Given the description of an element on the screen output the (x, y) to click on. 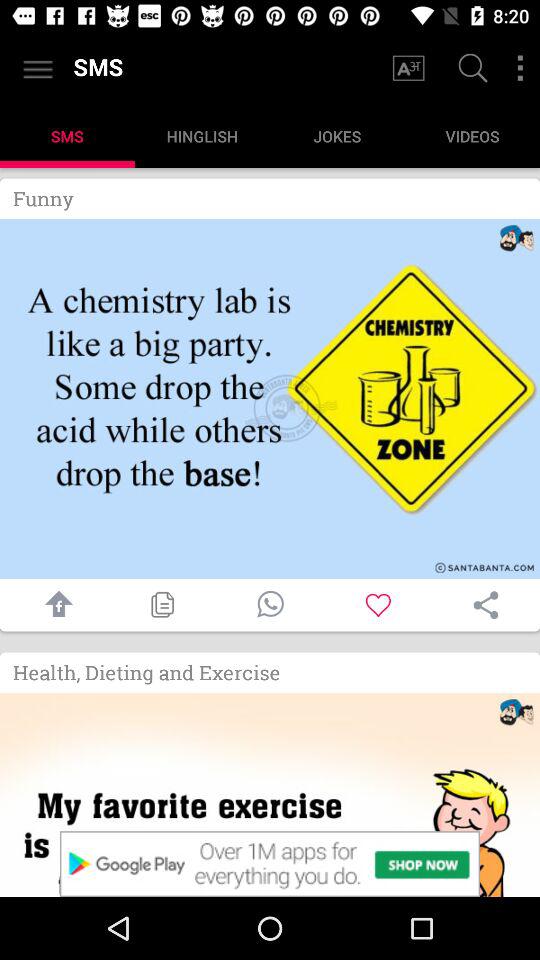
advatisment (270, 795)
